Given the description of an element on the screen output the (x, y) to click on. 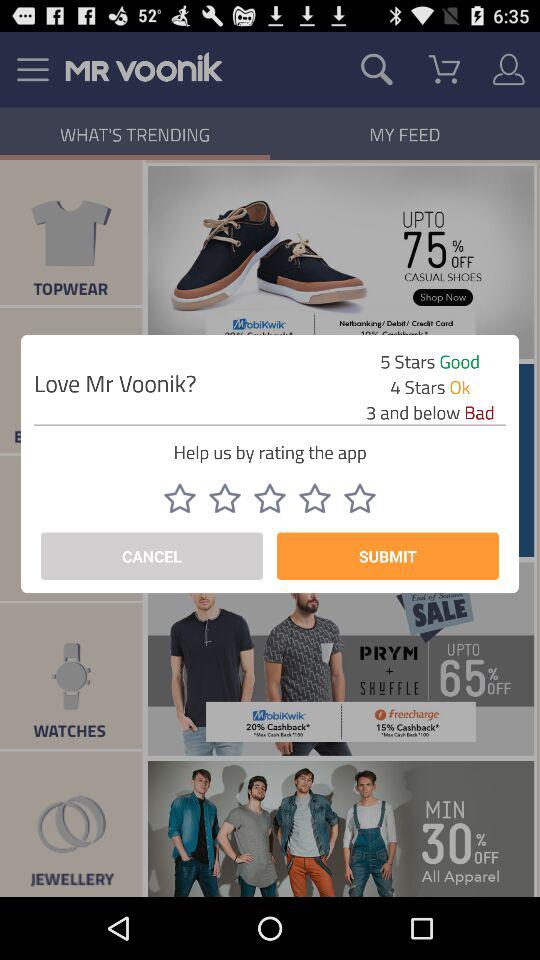
press icon below help us by (225, 498)
